Given the description of an element on the screen output the (x, y) to click on. 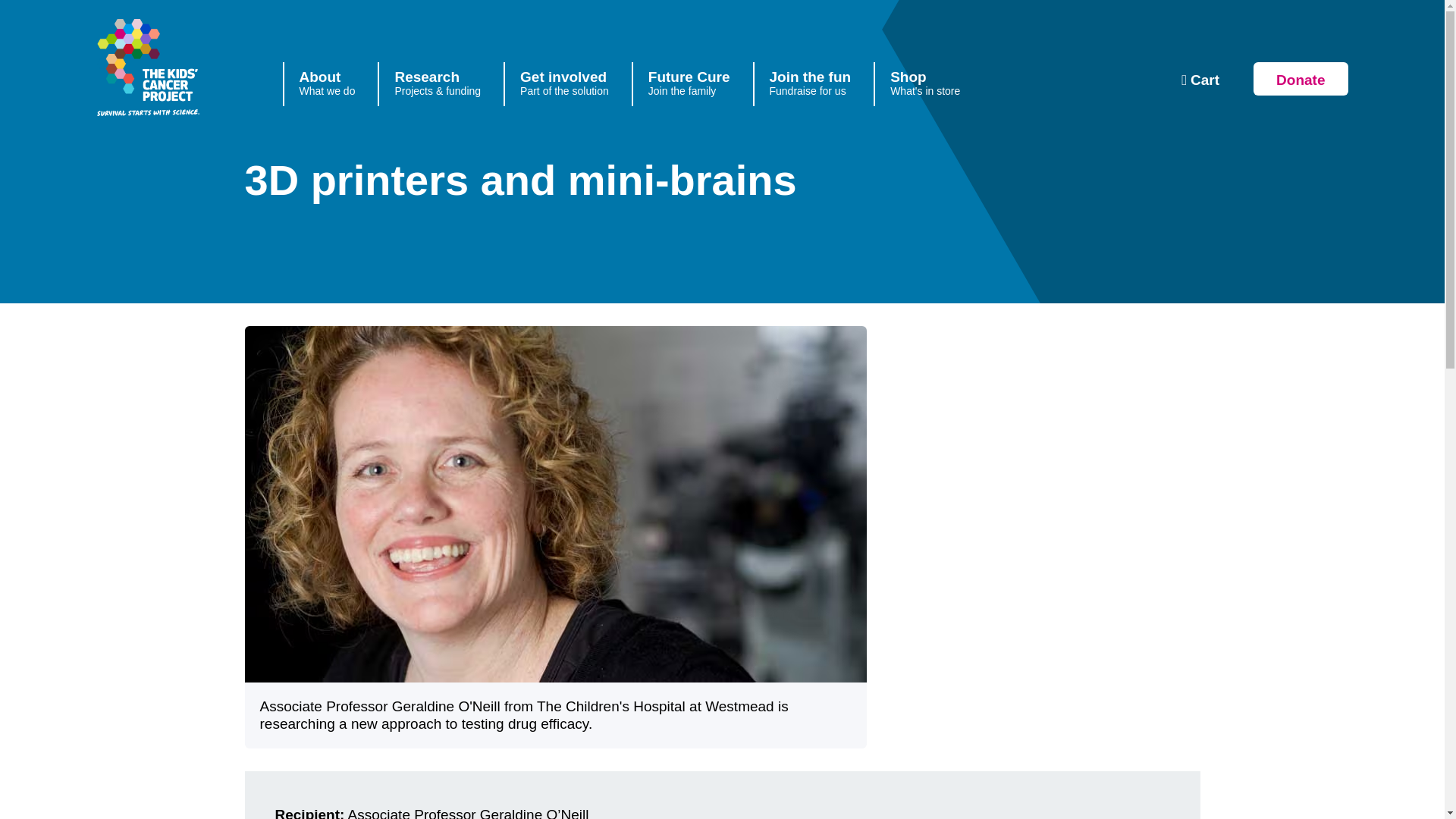
Return to home page (194, 68)
Make a donation (563, 84)
